Given the description of an element on the screen output the (x, y) to click on. 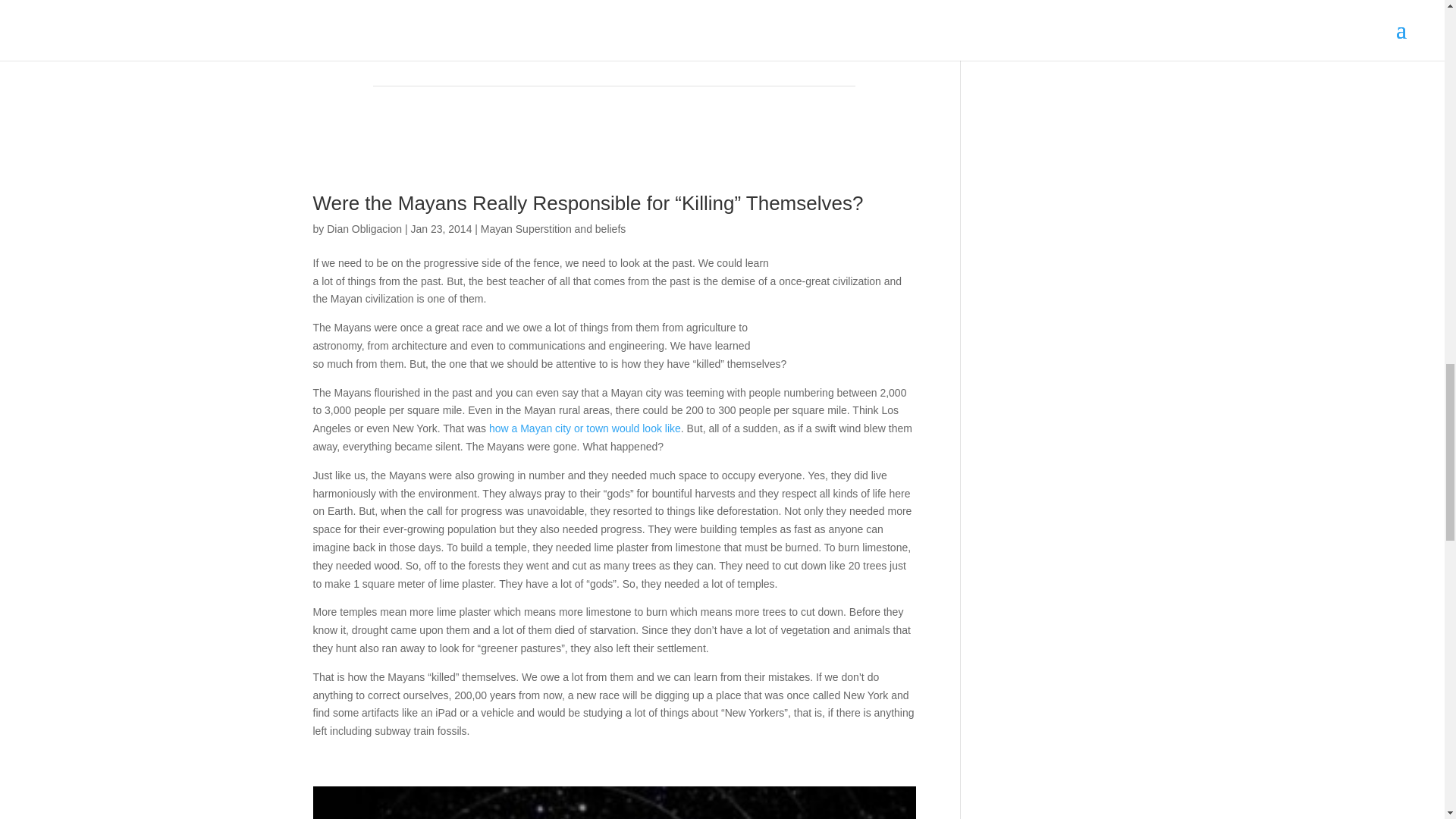
how a Mayan city or town would look like (583, 428)
Posts by Dian Obligacion (363, 228)
Dian Obligacion (363, 228)
Mayan Superstition and beliefs (553, 228)
